Given the description of an element on the screen output the (x, y) to click on. 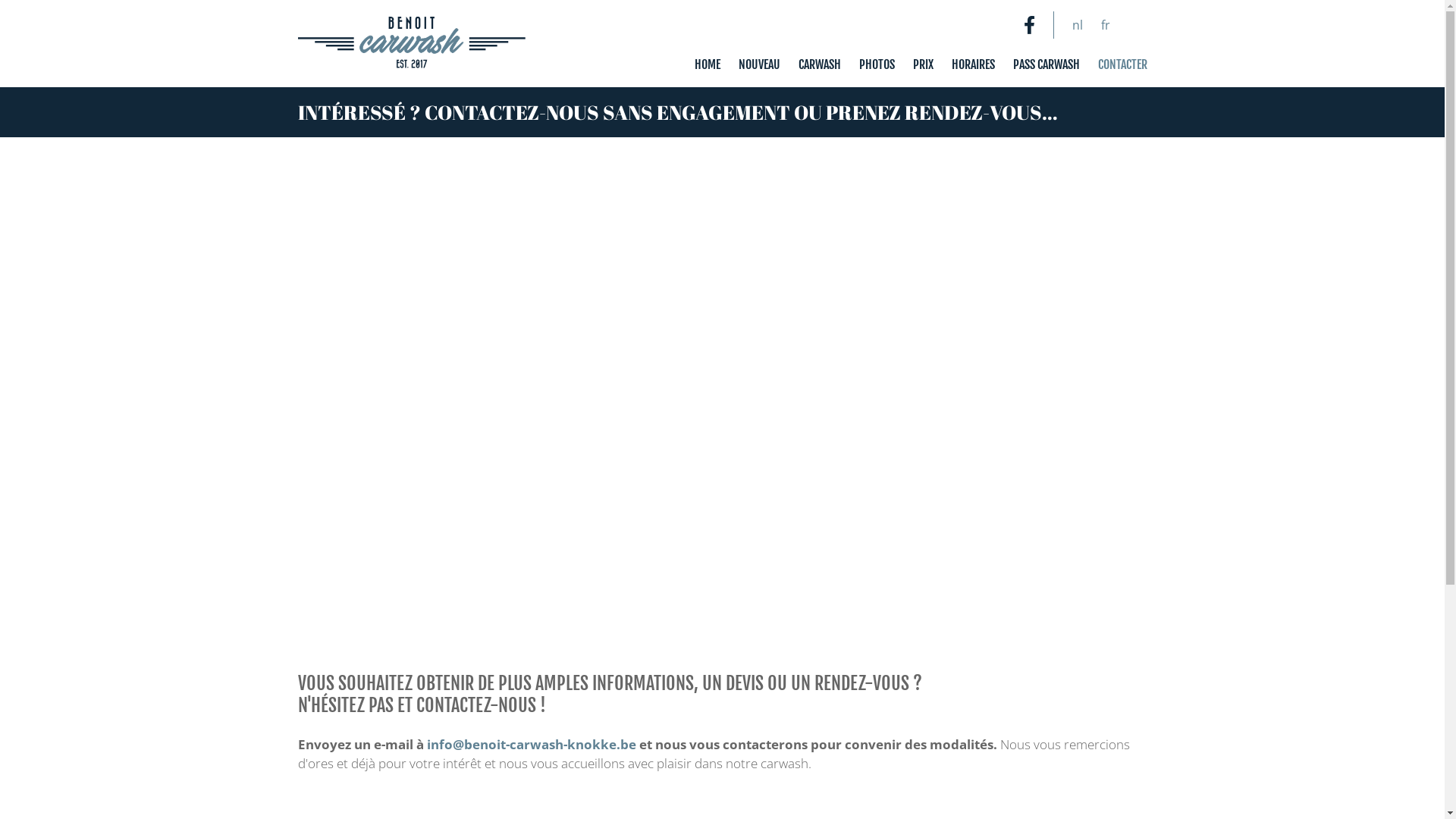
PRIX Element type: text (923, 64)
PHOTOS Element type: text (876, 64)
nl Element type: text (1077, 24)
fr Element type: text (1105, 24)
PASS CARWASH Element type: text (1046, 64)
CARWASH Element type: text (818, 64)
CONTACTER Element type: text (1122, 64)
HORAIRES Element type: text (972, 64)
HOME Element type: text (707, 64)
NOUVEAU Element type: text (759, 64)
info@benoit-carwash-knokke.be Element type: text (530, 744)
